Given the description of an element on the screen output the (x, y) to click on. 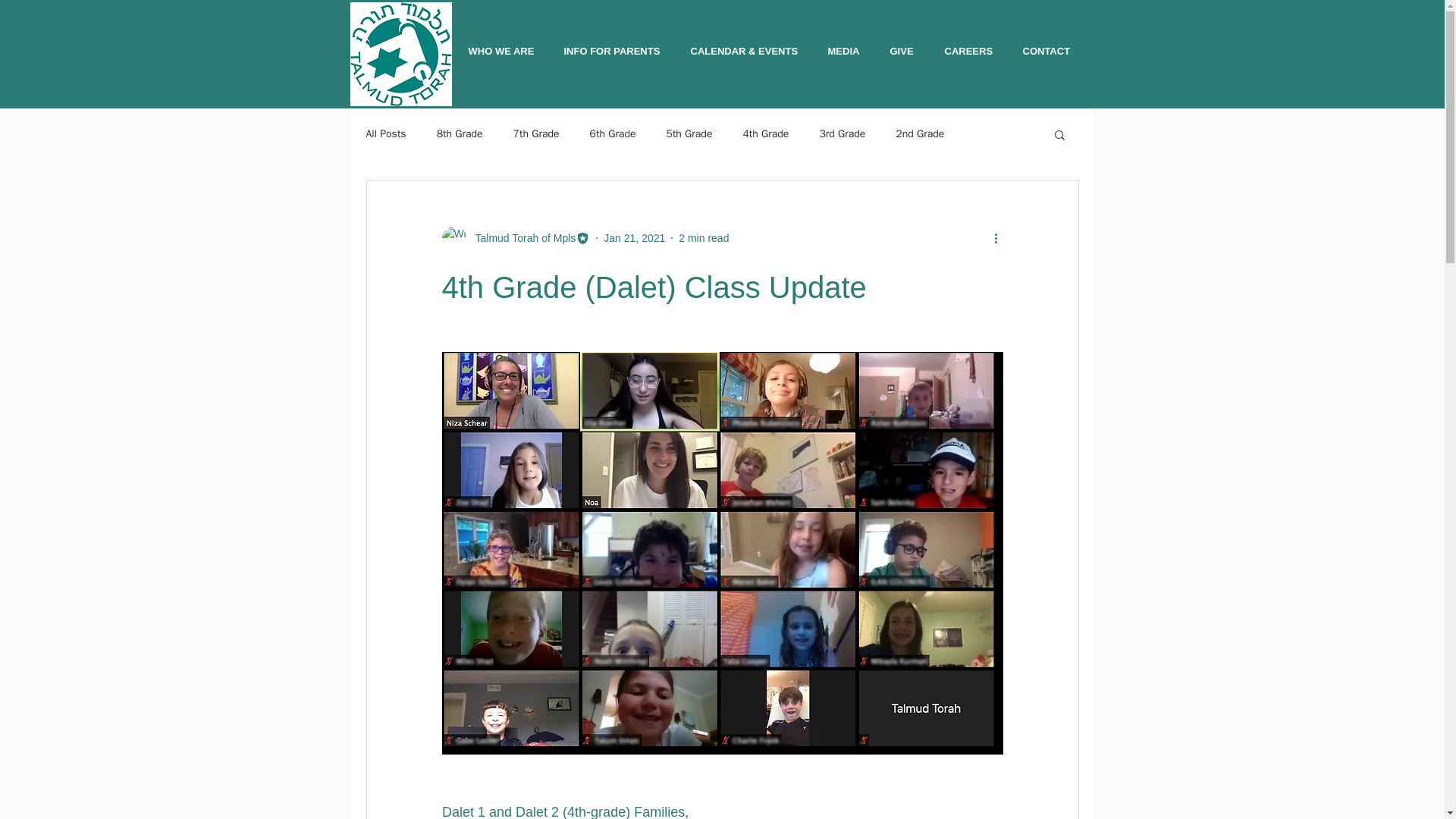
All Posts (385, 133)
GIVE (905, 51)
2 min read (703, 237)
8th Grade (459, 133)
CAREERS (971, 51)
CONTACT (1049, 51)
6th Grade (612, 133)
Talmud Torah of Mpls (515, 238)
WHO WE ARE (504, 51)
2nd Grade (919, 133)
